Given the description of an element on the screen output the (x, y) to click on. 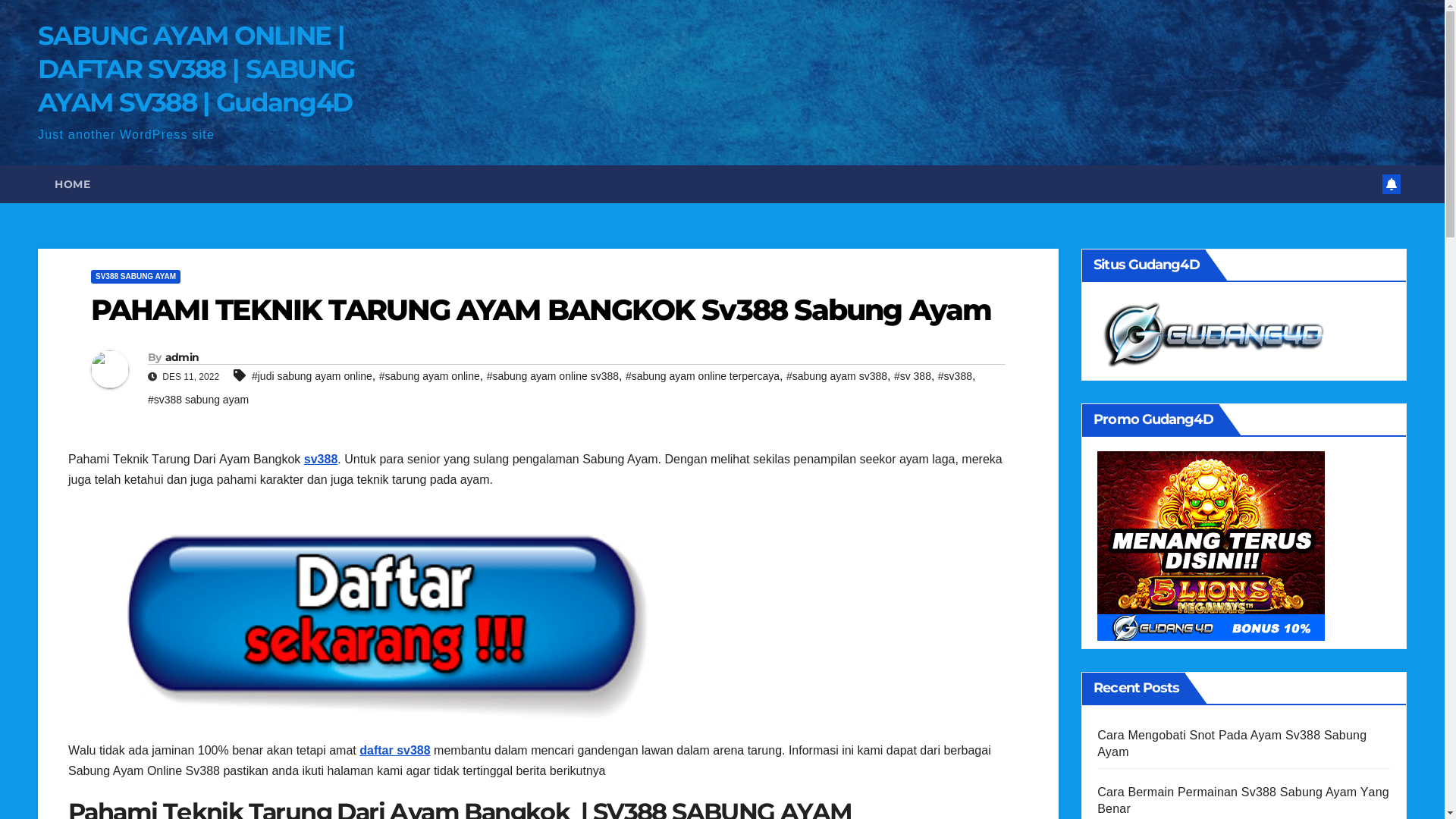
#sabung ayam online sv388 Element type: text (552, 376)
#sv388 sabung ayam Element type: text (197, 399)
#sv388 Element type: text (955, 376)
HOME Element type: text (71, 184)
admin Element type: text (182, 357)
sv388 Element type: text (321, 458)
SV388 SABUNG AYAM Element type: text (135, 276)
Cara Mengobati Snot Pada Ayam Sv388 Sabung Ayam Element type: text (1231, 743)
daftar sv388 Element type: text (394, 749)
#sabung ayam sv388 Element type: text (836, 376)
#judi sabung ayam online Element type: text (311, 376)
#sabung ayam online terpercaya Element type: text (702, 376)
#sv 388 Element type: text (912, 376)
PAHAMI TEKNIK TARUNG AYAM BANGKOK Sv388 Sabung Ayam Element type: text (541, 309)
#sabung ayam online Element type: text (429, 376)
